Given the description of an element on the screen output the (x, y) to click on. 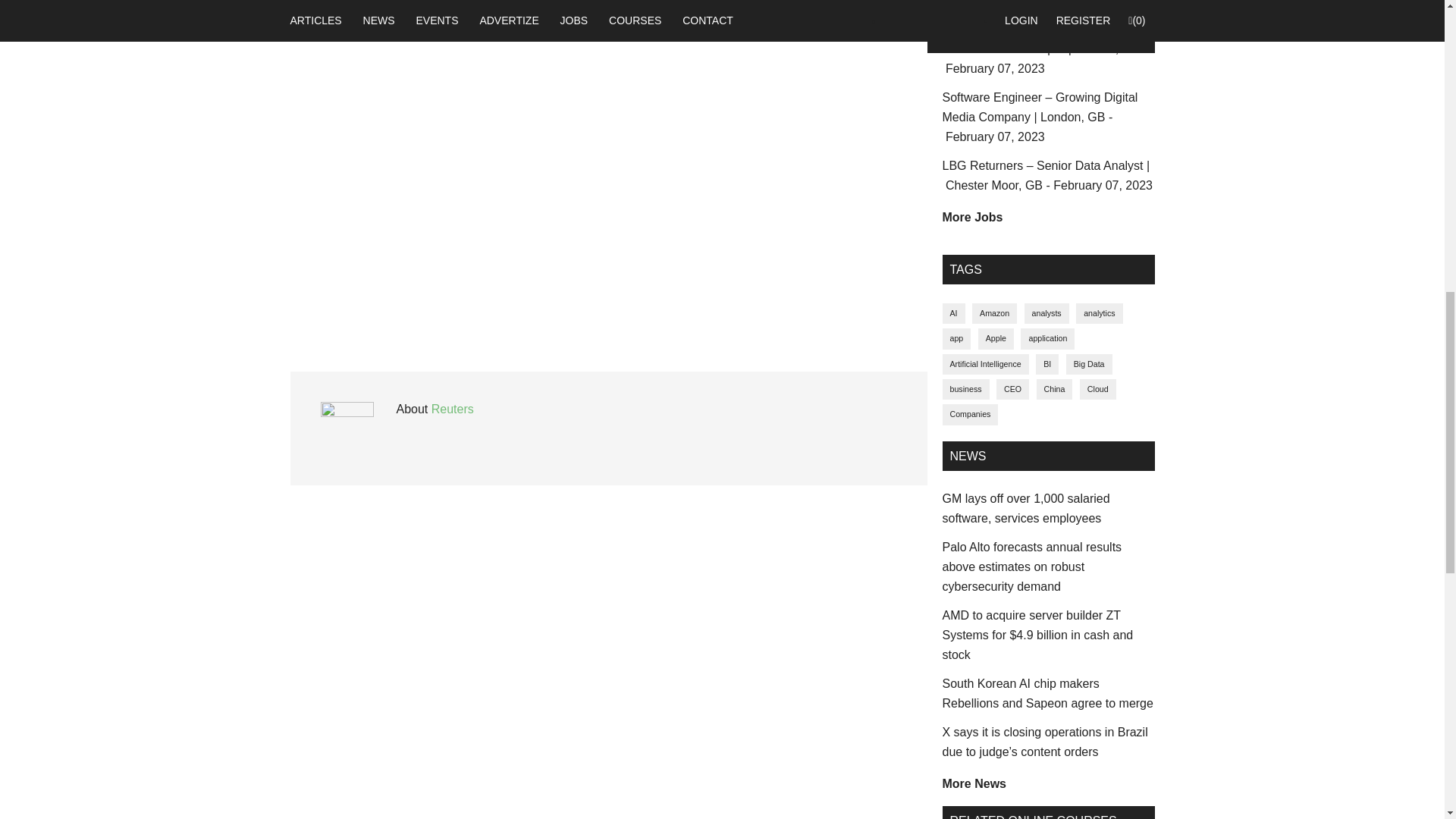
GM lays off over 1,000 salaried software, services employees (1025, 508)
Senior Java Developer (1044, 58)
